Given the description of an element on the screen output the (x, y) to click on. 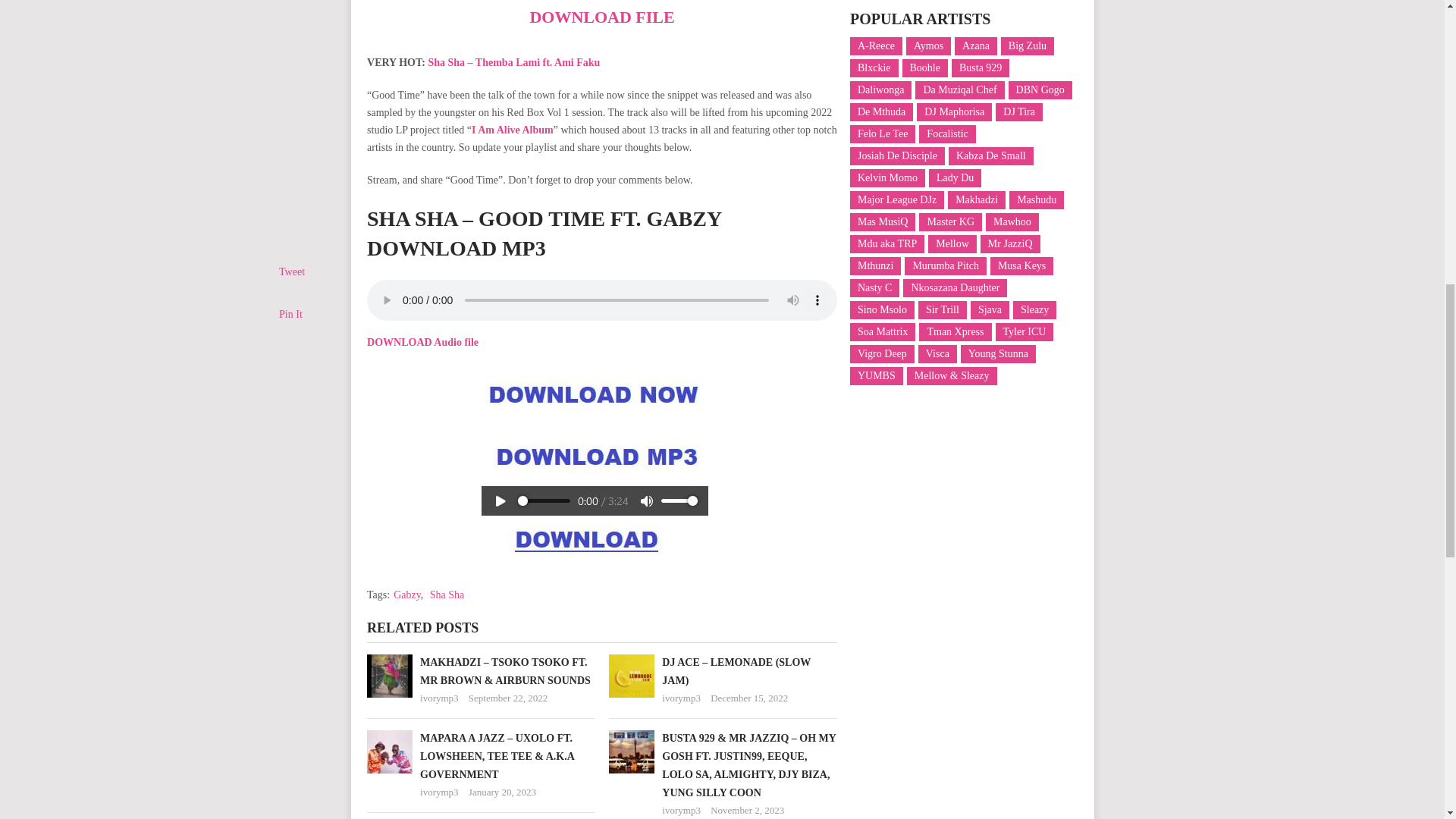
Gabzy (406, 594)
DOWNLOAD FILE (601, 16)
I Am Alive Album (512, 129)
Posts by ivorymp3 (439, 697)
ivorymp3 (439, 697)
Sha Sha (446, 594)
DOWNLOAD Audio file (422, 342)
